Given the description of an element on the screen output the (x, y) to click on. 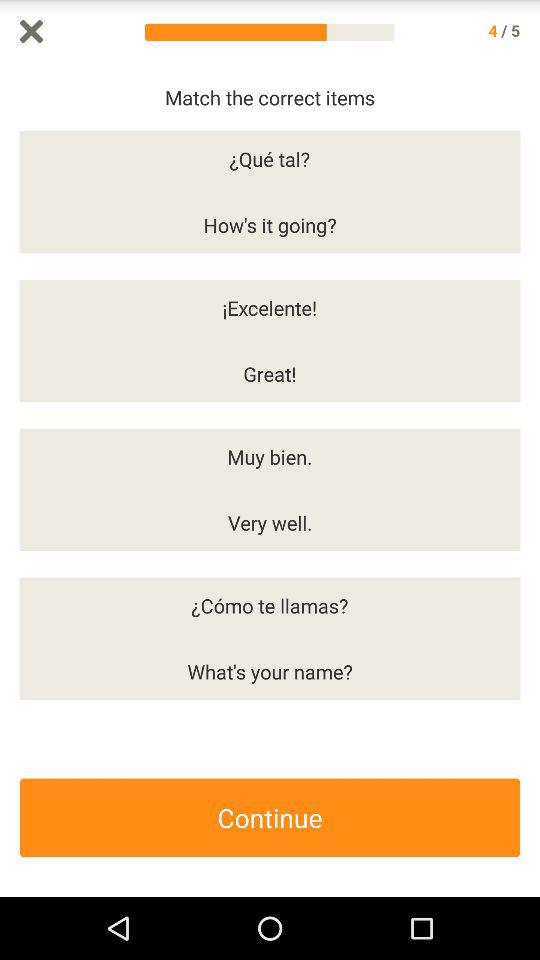
swipe until the continue button (269, 817)
